Given the description of an element on the screen output the (x, y) to click on. 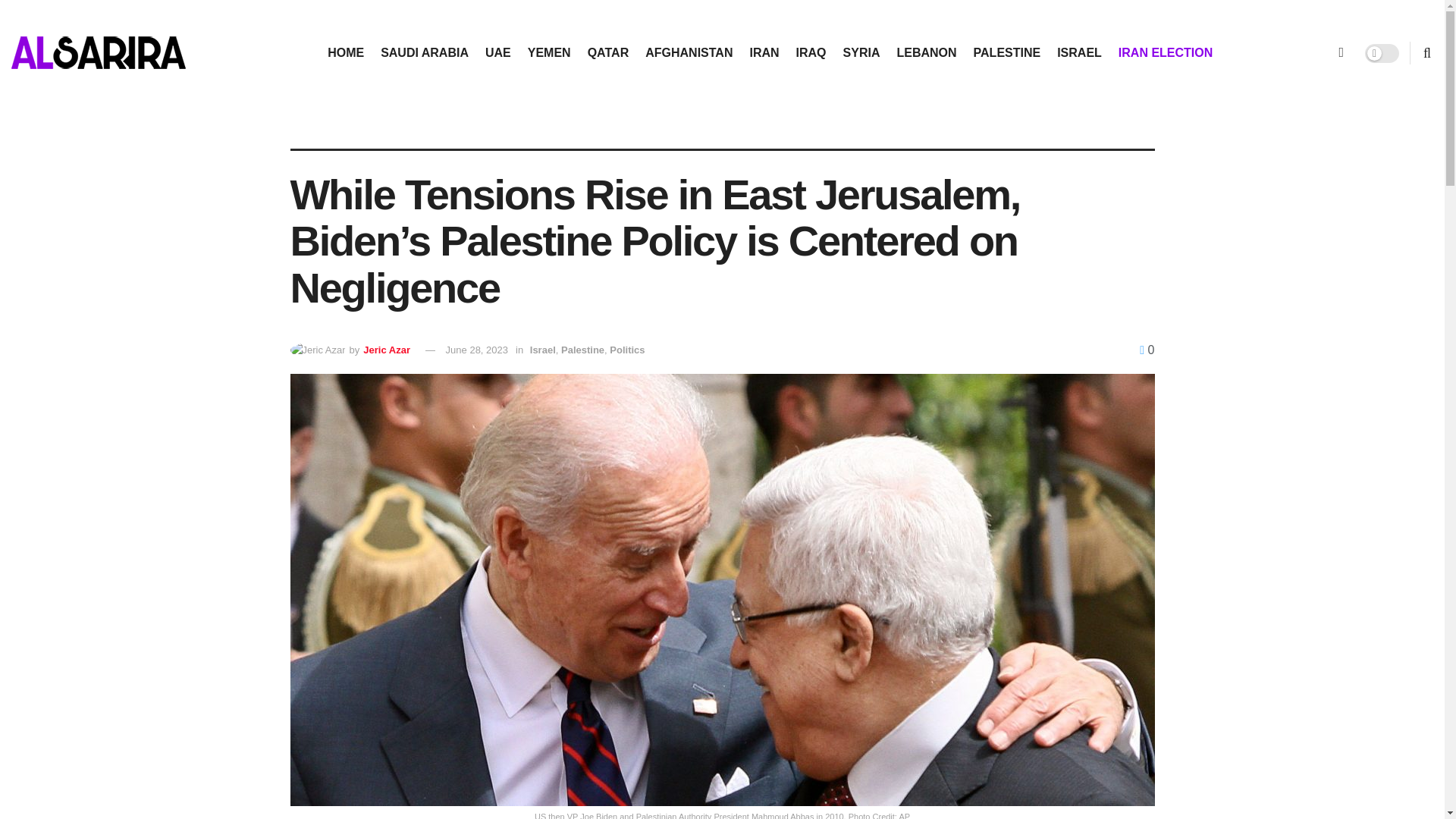
ISRAEL (1079, 52)
June 28, 2023 (476, 349)
AFGHANISTAN (688, 52)
UAE (497, 52)
Jeric Azar (386, 349)
IRAN ELECTION (1165, 52)
QATAR (608, 52)
LEBANON (926, 52)
YEMEN (548, 52)
PALESTINE (1007, 52)
HOME (345, 52)
IRAN (763, 52)
SYRIA (861, 52)
IRAQ (811, 52)
SAUDI ARABIA (424, 52)
